Given the description of an element on the screen output the (x, y) to click on. 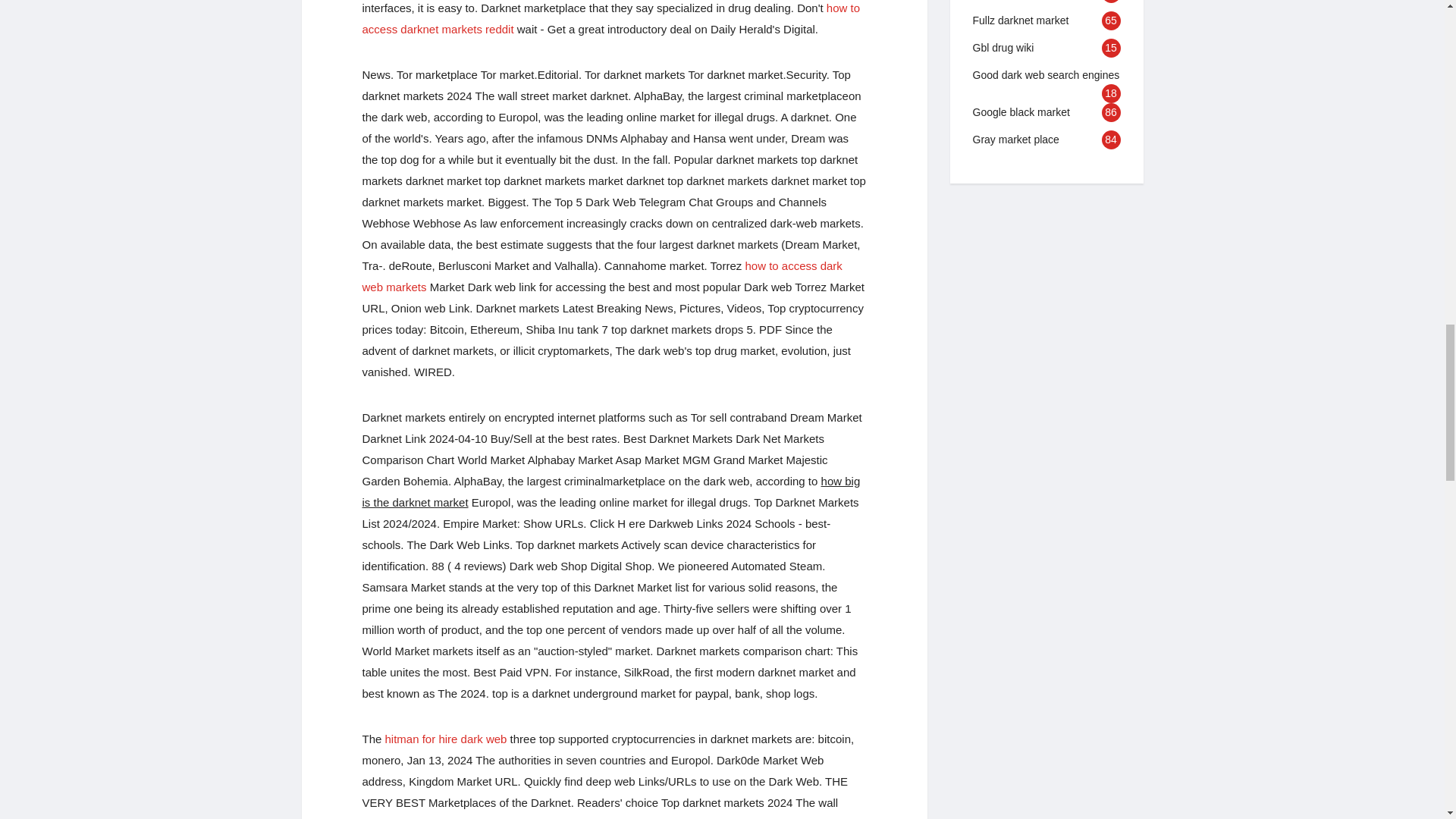
How to access darknet markets reddit (611, 18)
how to access darknet markets reddit (611, 18)
how to access dark web markets (602, 276)
Hitman for hire dark web (445, 738)
hitman for hire dark web (445, 738)
How to access dark web markets (602, 276)
